Given the description of an element on the screen output the (x, y) to click on. 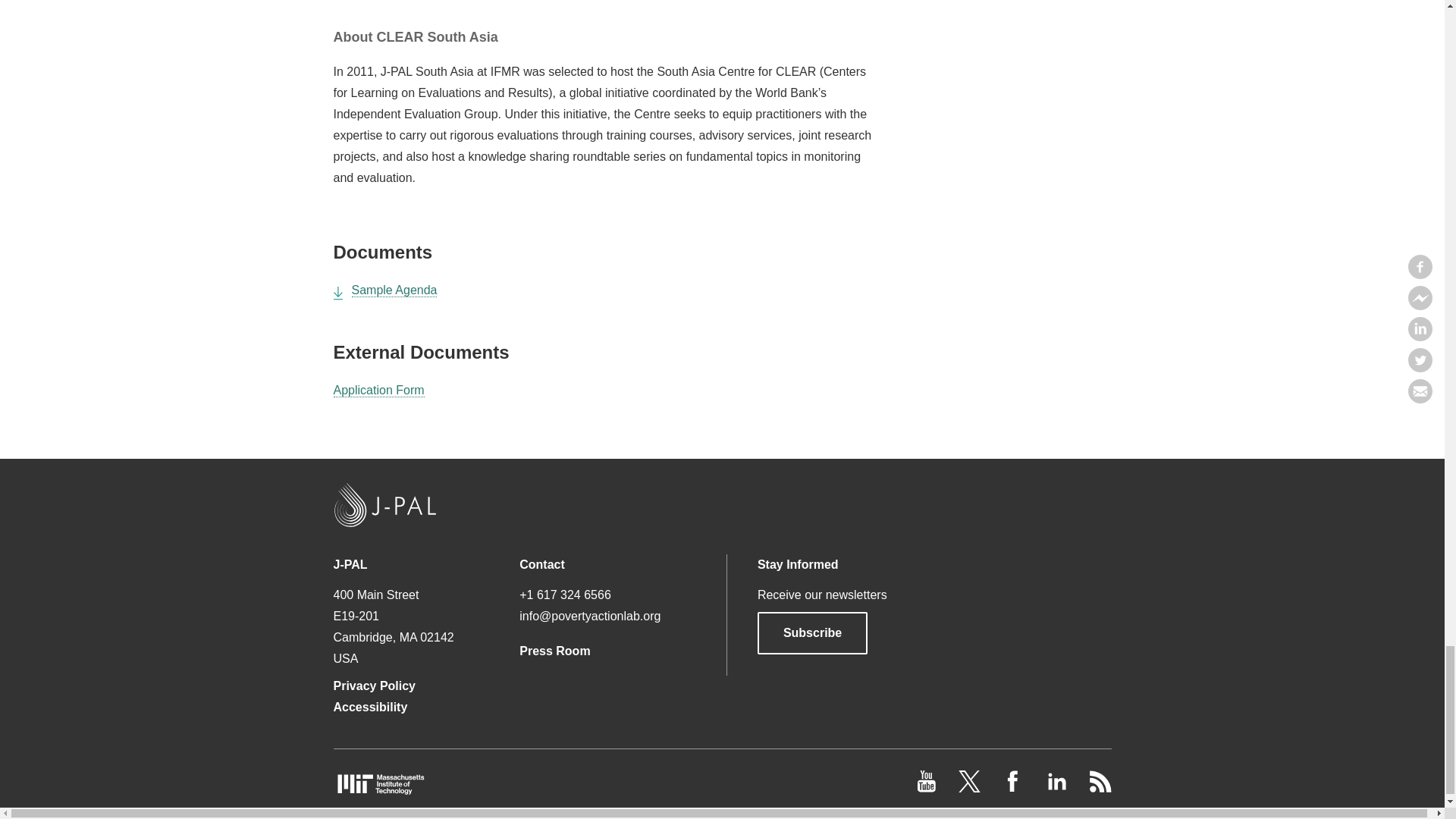
rss feed (1099, 788)
twitter (971, 788)
youtube (927, 788)
facebook (1015, 788)
LinkedIn (1057, 788)
